Given the description of an element on the screen output the (x, y) to click on. 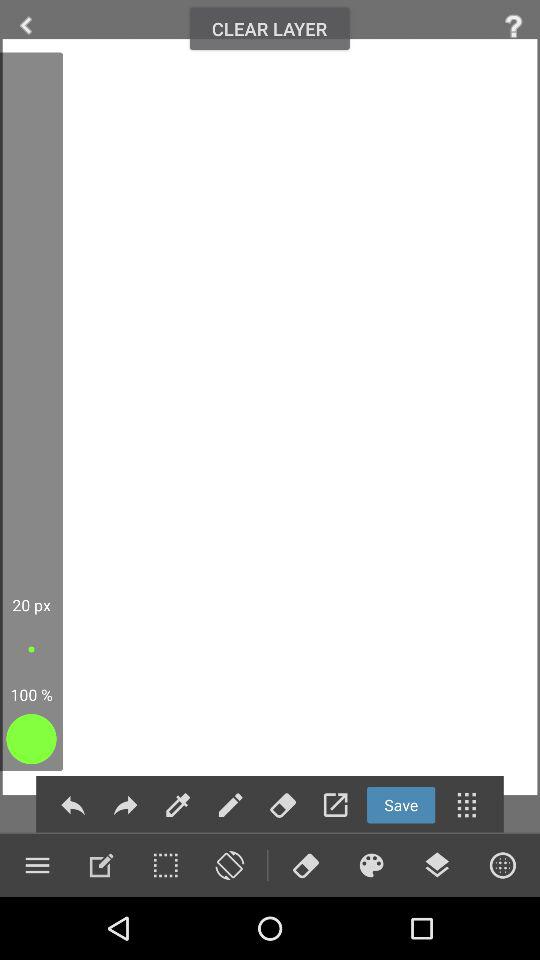
get help (513, 26)
